Given the description of an element on the screen output the (x, y) to click on. 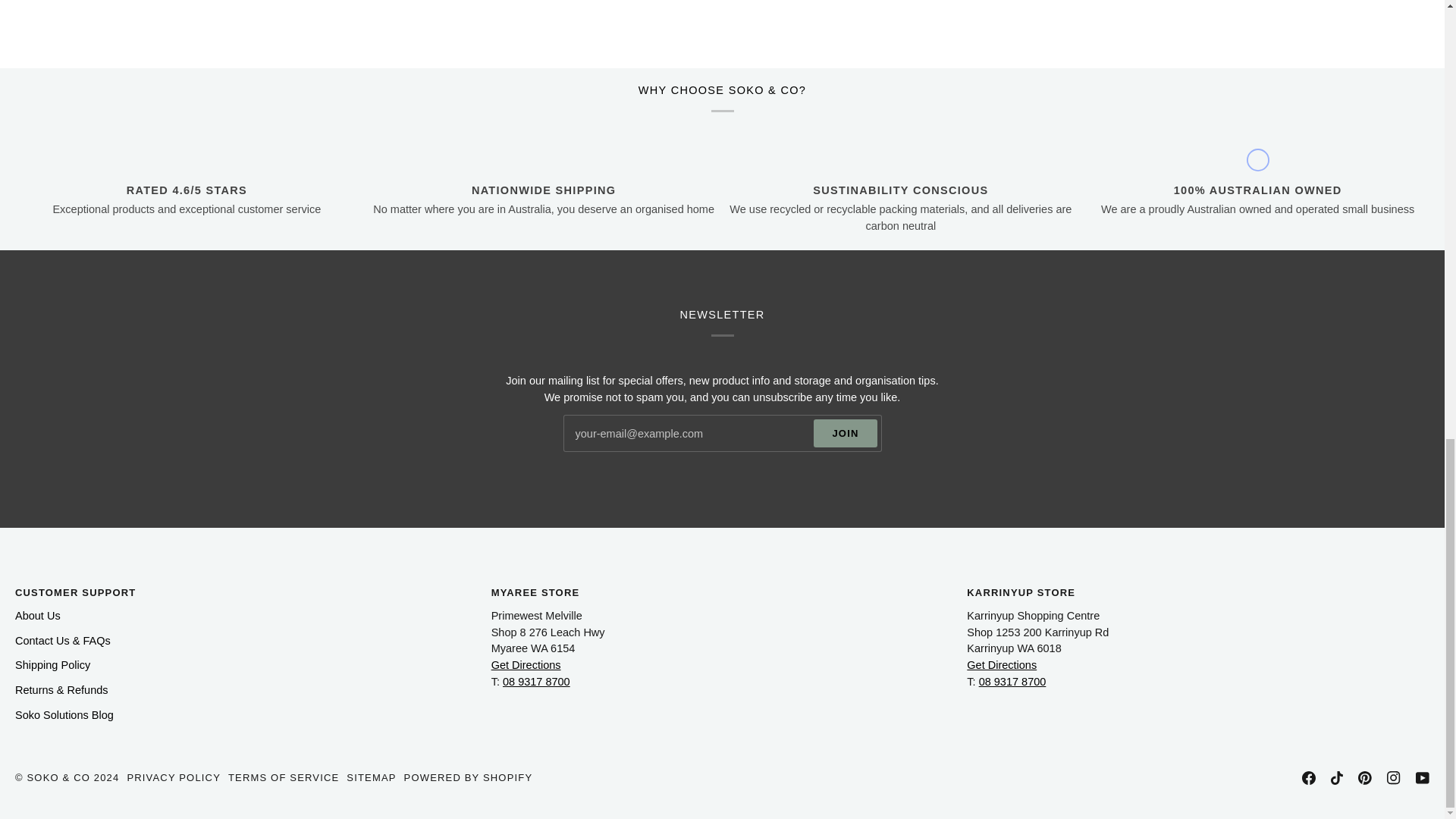
Pinterest (1364, 777)
Facebook (1308, 777)
YouTube (1422, 777)
tel:61893178700 (1012, 681)
Tiktok (1336, 777)
Instagram (1393, 777)
